Given the description of an element on the screen output the (x, y) to click on. 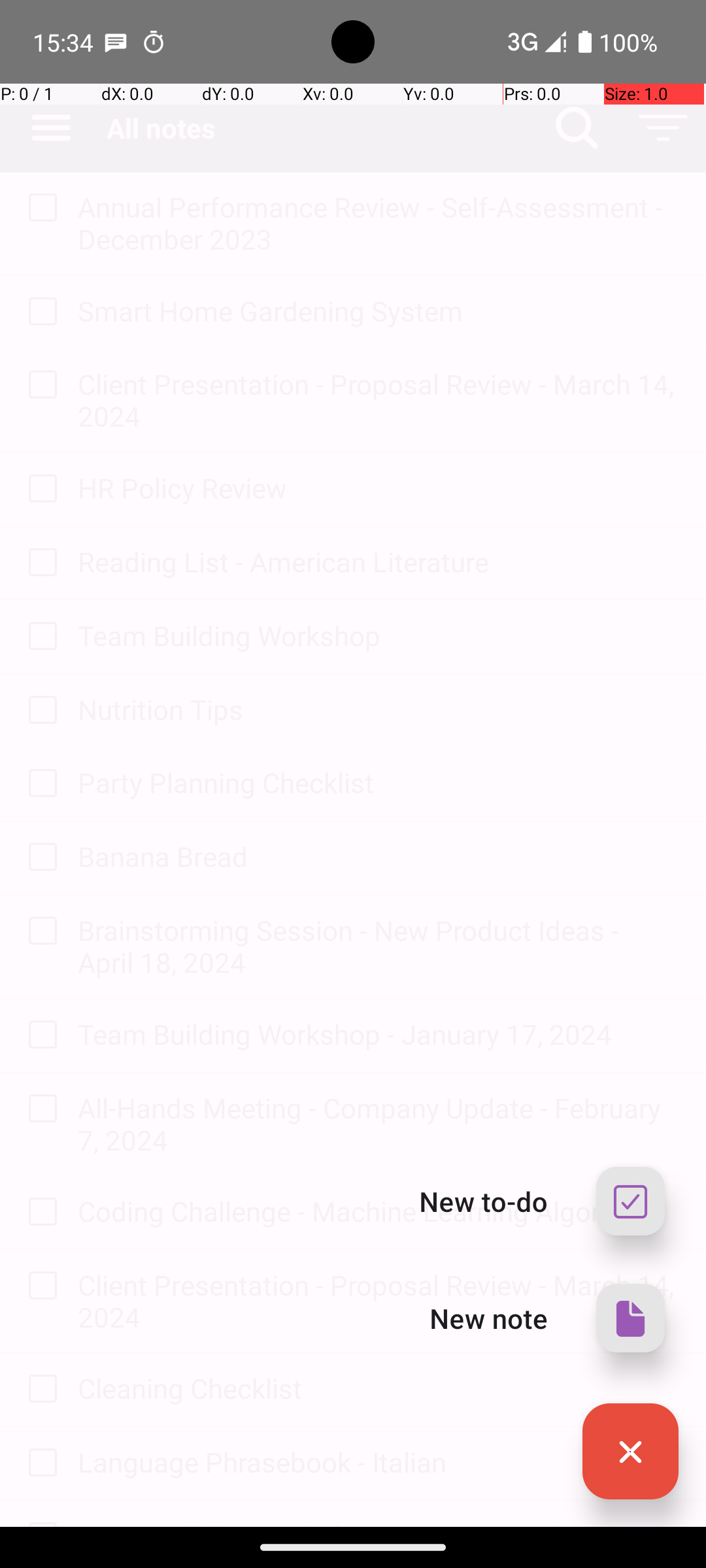
New to-do Element type: android.widget.Button (483, 1201)
New note Element type: android.widget.Button (488, 1317)
Add new, expanded Element type: android.widget.Button (630, 1451)
 Element type: android.widget.TextView (630, 1450)
to-do: Smart Home Gardening System Element type: android.widget.CheckBox (38, 312)
Smart Home Gardening System Element type: android.widget.TextView (378, 310)
to-do: Client Presentation - Proposal Review - March 14, 2024 Element type: android.widget.CheckBox (38, 385)
Client Presentation - Proposal Review - March 14, 2024 Element type: android.widget.TextView (378, 399)
to-do: HR Policy Review Element type: android.widget.CheckBox (38, 489)
HR Policy Review Element type: android.widget.TextView (378, 487)
to-do: Reading List - American Literature Element type: android.widget.CheckBox (38, 563)
Reading List - American Literature Element type: android.widget.TextView (378, 561)
to-do: Team Building Workshop Element type: android.widget.CheckBox (38, 637)
Team Building Workshop Element type: android.widget.TextView (378, 634)
to-do: Party Planning Checklist Element type: android.widget.CheckBox (38, 783)
Party Planning Checklist Element type: android.widget.TextView (378, 781)
to-do: Banana Bread Element type: android.widget.CheckBox (38, 857)
Banana Bread Element type: android.widget.TextView (378, 855)
to-do: Brainstorming Session - New Product Ideas - April 18, 2024 Element type: android.widget.CheckBox (38, 931)
Brainstorming Session - New Product Ideas - April 18, 2024 Element type: android.widget.TextView (378, 945)
to-do: Team Building Workshop - January 17, 2024 Element type: android.widget.CheckBox (38, 1035)
Team Building Workshop - January 17, 2024 Element type: android.widget.TextView (378, 1033)
to-do: All-Hands Meeting - Company Update - February 7, 2024 Element type: android.widget.CheckBox (38, 1109)
All-Hands Meeting - Company Update - February 7, 2024 Element type: android.widget.TextView (378, 1123)
to-do: Cleaning Checklist Element type: android.widget.CheckBox (38, 1389)
Cleaning Checklist Element type: android.widget.TextView (378, 1387)
to-do: Language Phrasebook - Italian Element type: android.widget.CheckBox (38, 1463)
Language Phrasebook - Italian Element type: android.widget.TextView (378, 1461)
